Given the description of an element on the screen output the (x, y) to click on. 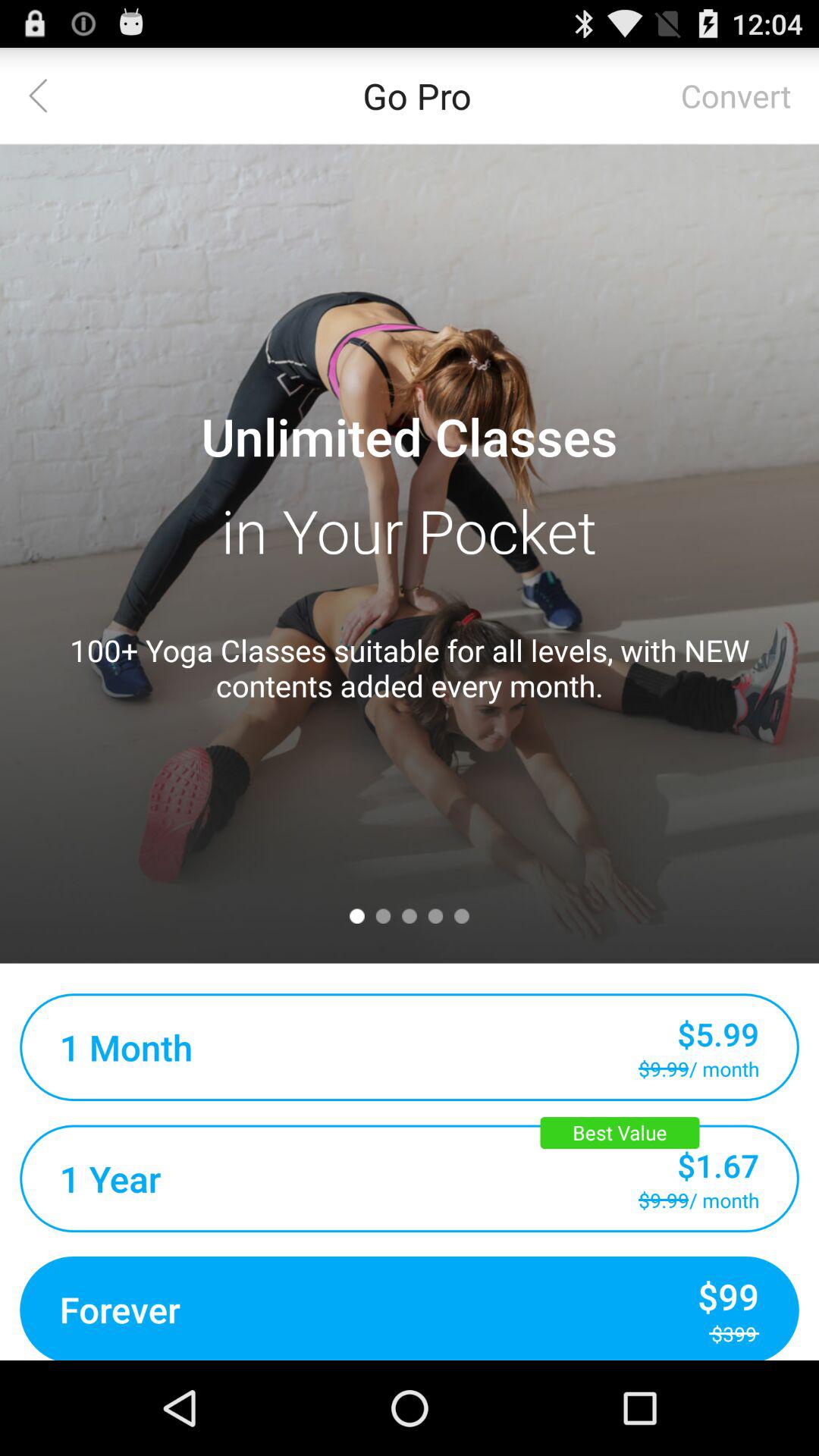
click item next to the go pro item (735, 95)
